Given the description of an element on the screen output the (x, y) to click on. 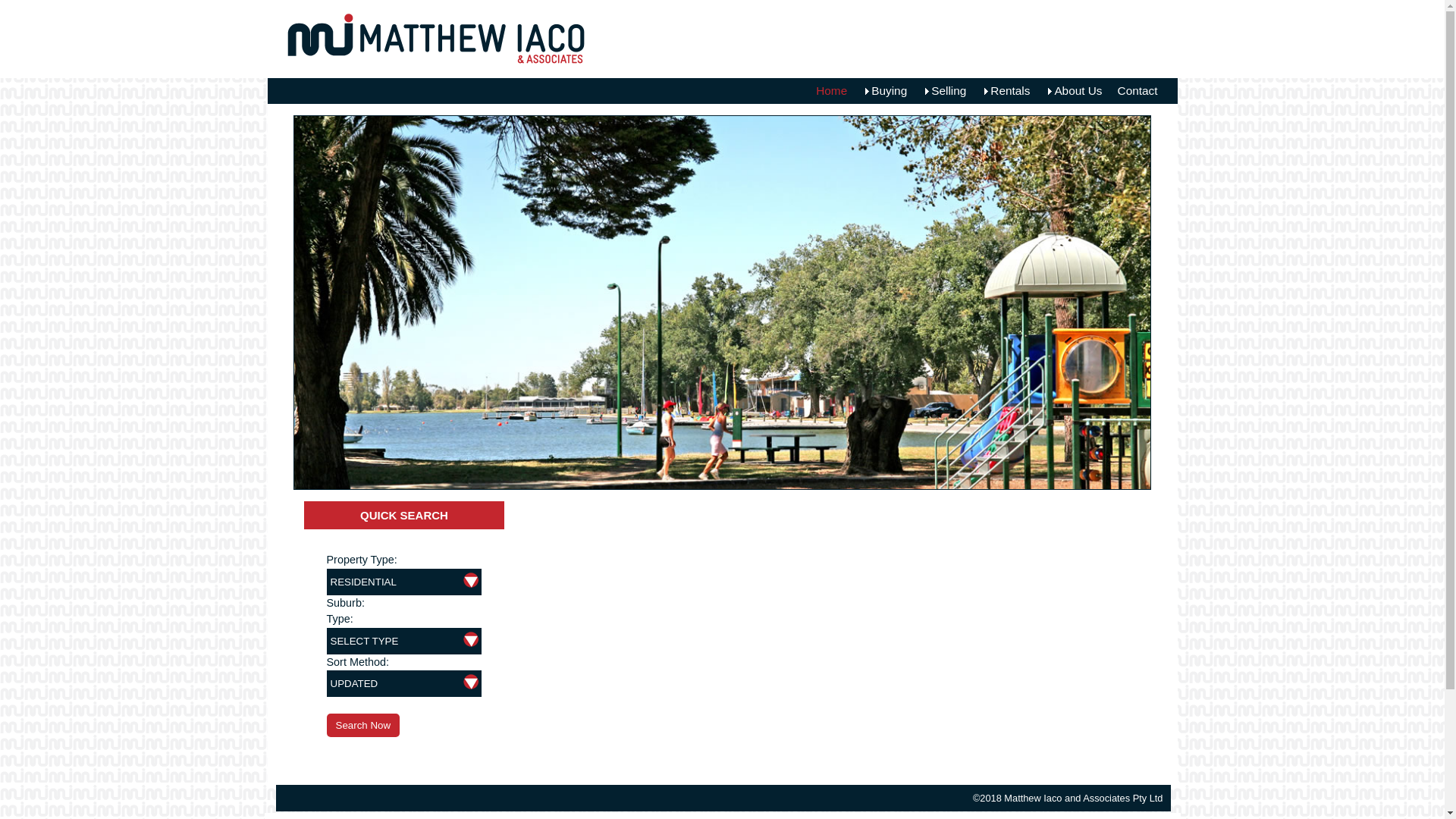
Contact Element type: text (1137, 90)
Buying Element type: text (884, 90)
Rentals Element type: text (1005, 90)
Selling Element type: text (943, 90)
About Us Element type: text (1073, 90)
Search Now Element type: text (362, 725)
Home Element type: text (831, 90)
